Given the description of an element on the screen output the (x, y) to click on. 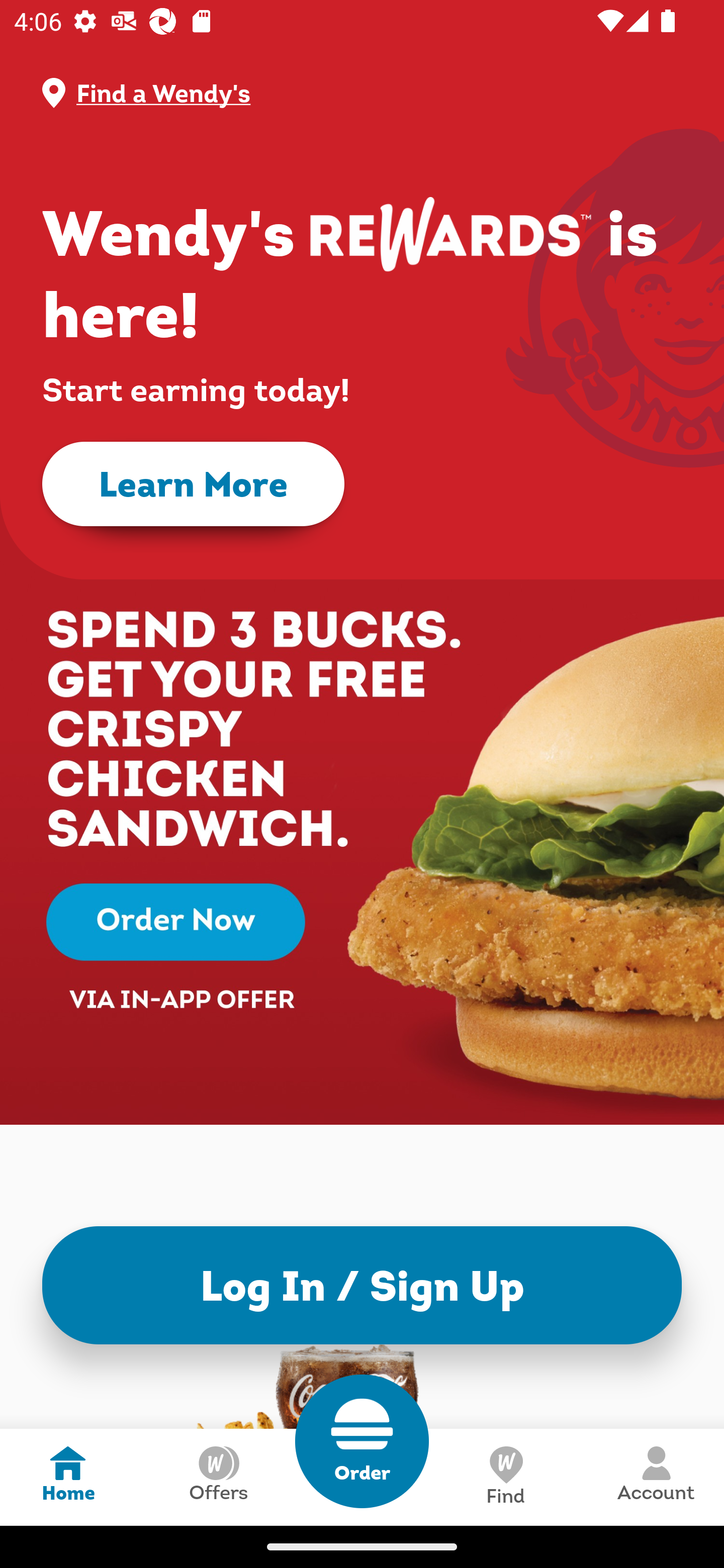
Find a Wendy's (378, 92)
Learn More (192, 484)
Campaign image (362, 807)
Log In / Sign Up (361, 1284)
Order,3 of 5 Order (361, 1441)
Home,1 of 5 Home (68, 1476)
Rewards,2 of 5 Offers Offers (218, 1476)
Scan,4 of 5 Find Find (505, 1476)
Account,5 of 5 Account (655, 1476)
